Given the description of an element on the screen output the (x, y) to click on. 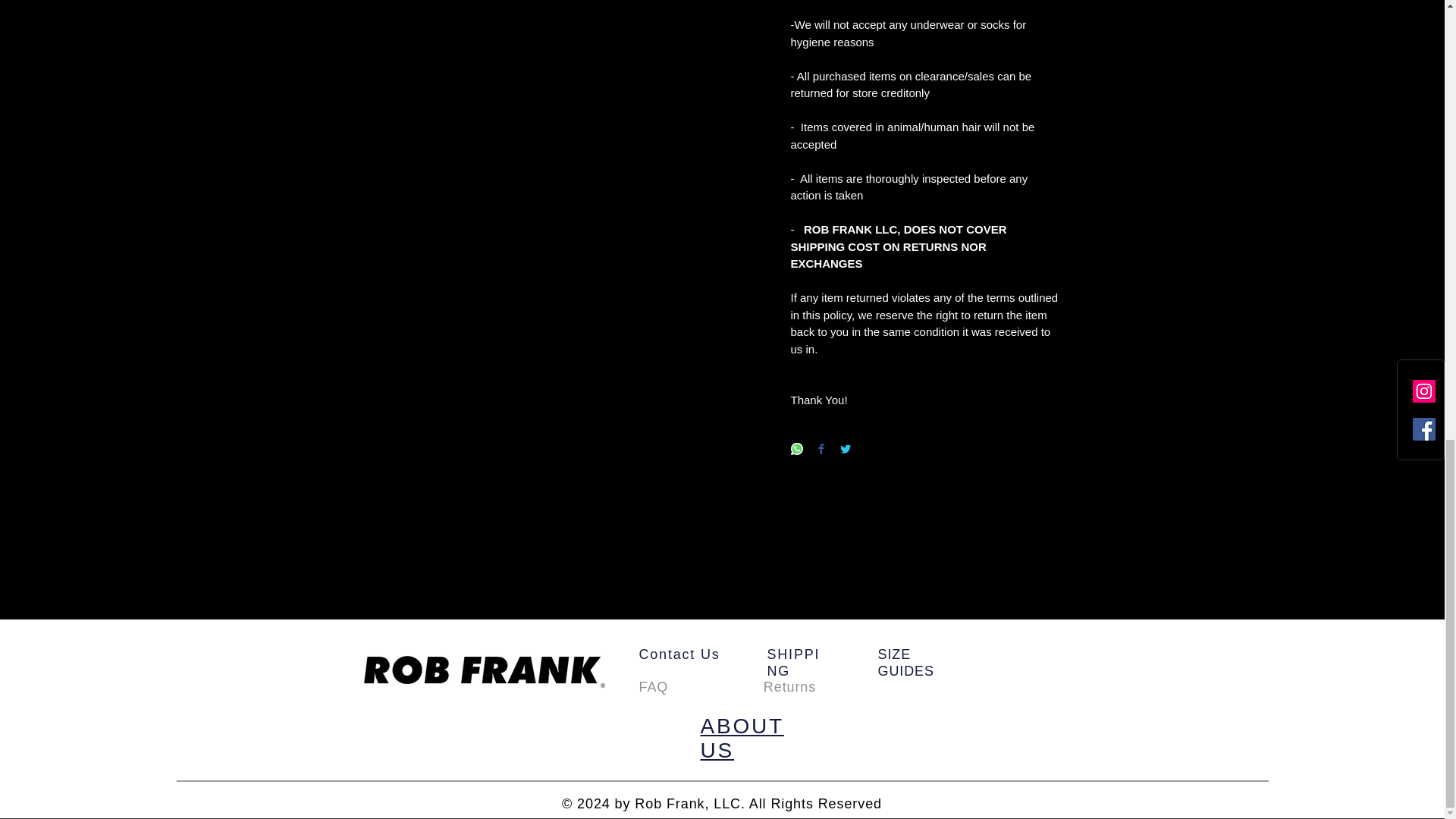
RF NAME FILE OG black.png (483, 671)
ABOUT US (742, 738)
FAQ (653, 686)
SIZE GUIDES (905, 662)
Returns (788, 686)
SHIPPING (794, 662)
Contact Us (679, 654)
